Given the description of an element on the screen output the (x, y) to click on. 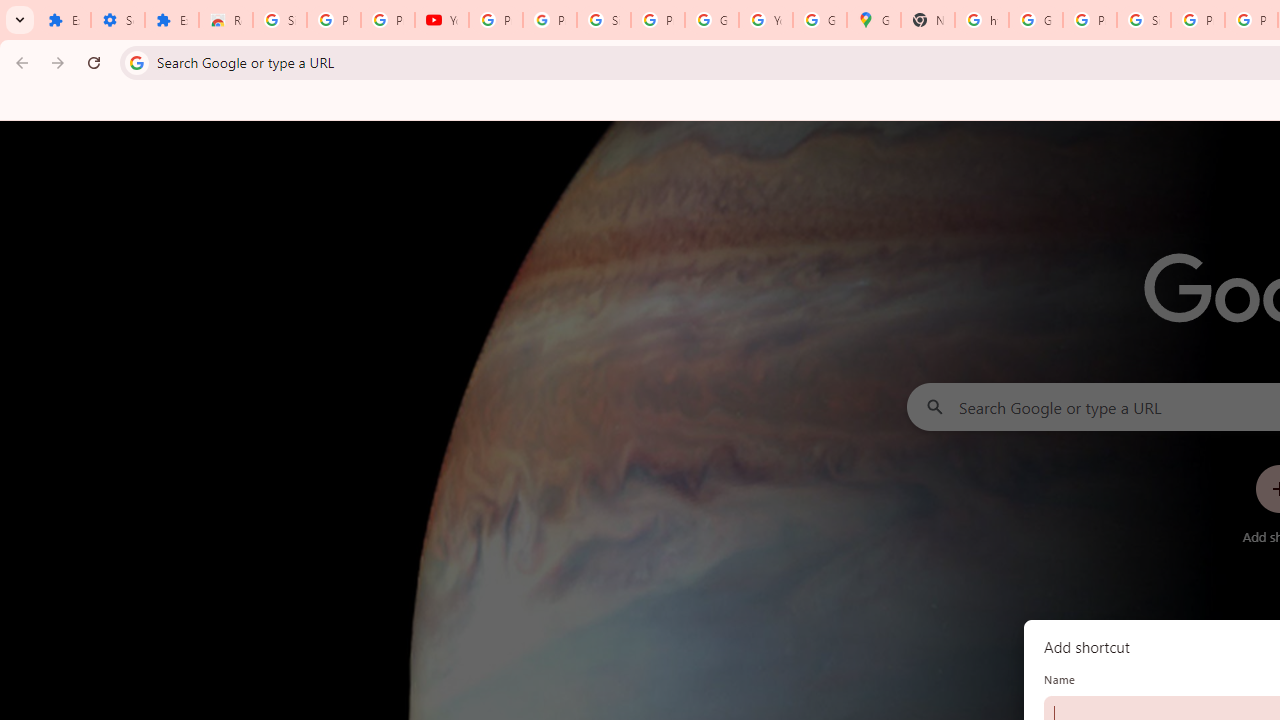
Sign in - Google Accounts (604, 20)
YouTube (441, 20)
Sign in - Google Accounts (1144, 20)
YouTube (765, 20)
Extensions (171, 20)
Extensions (63, 20)
Reviews: Helix Fruit Jump Arcade Game (225, 20)
